Given the description of an element on the screen output the (x, y) to click on. 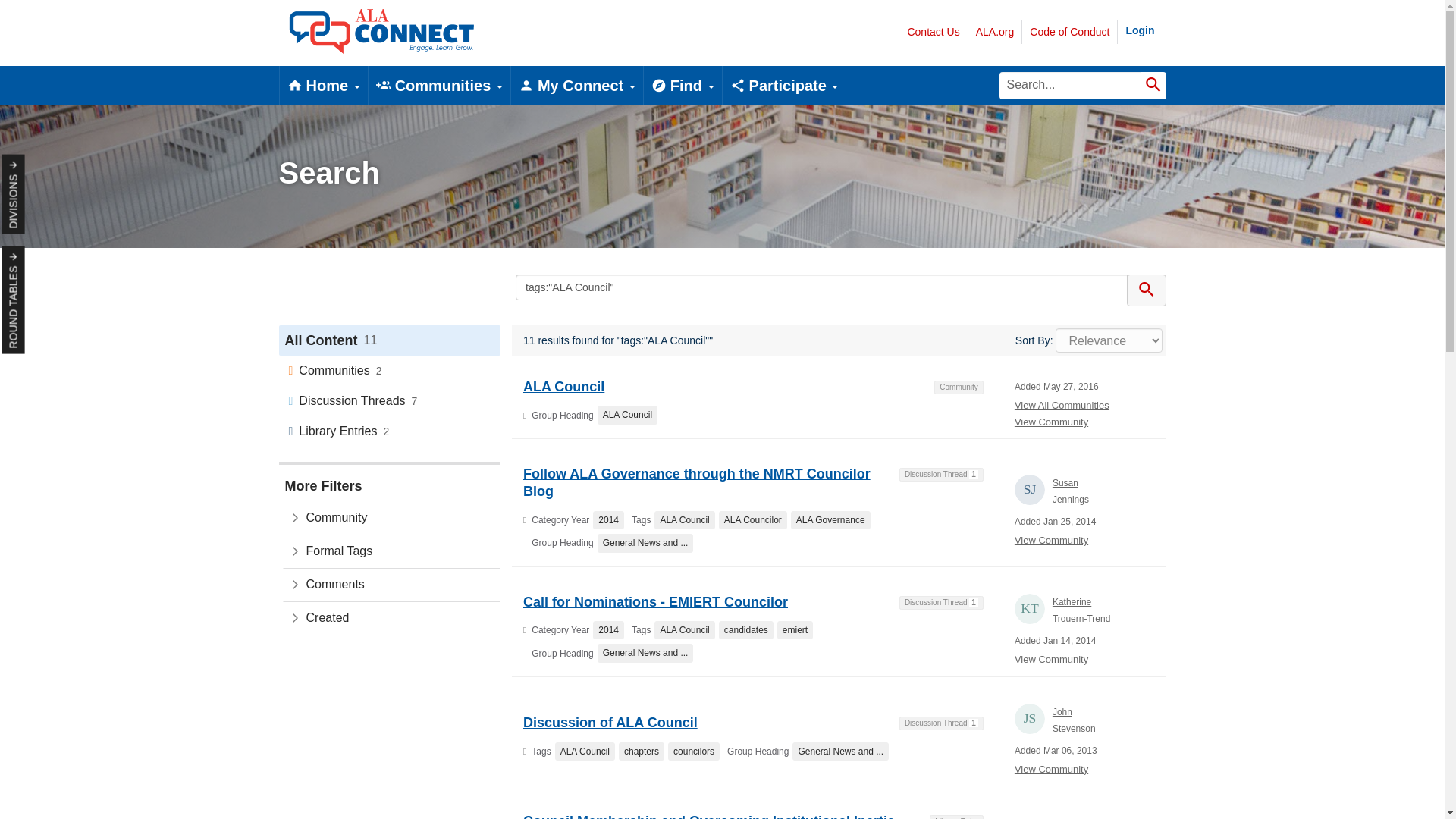
Contact Us (933, 31)
search (1069, 84)
How to get in contact with us (933, 31)
ALA.org (995, 31)
search (1146, 290)
Login (1139, 30)
search term input (820, 287)
DIVISIONS (41, 164)
ROUND TABLES (56, 256)
Read the code of conduct for posting to the lists (1070, 31)
tags:"ALA Council" (820, 287)
Code of Conduct (1070, 31)
